Given the description of an element on the screen output the (x, y) to click on. 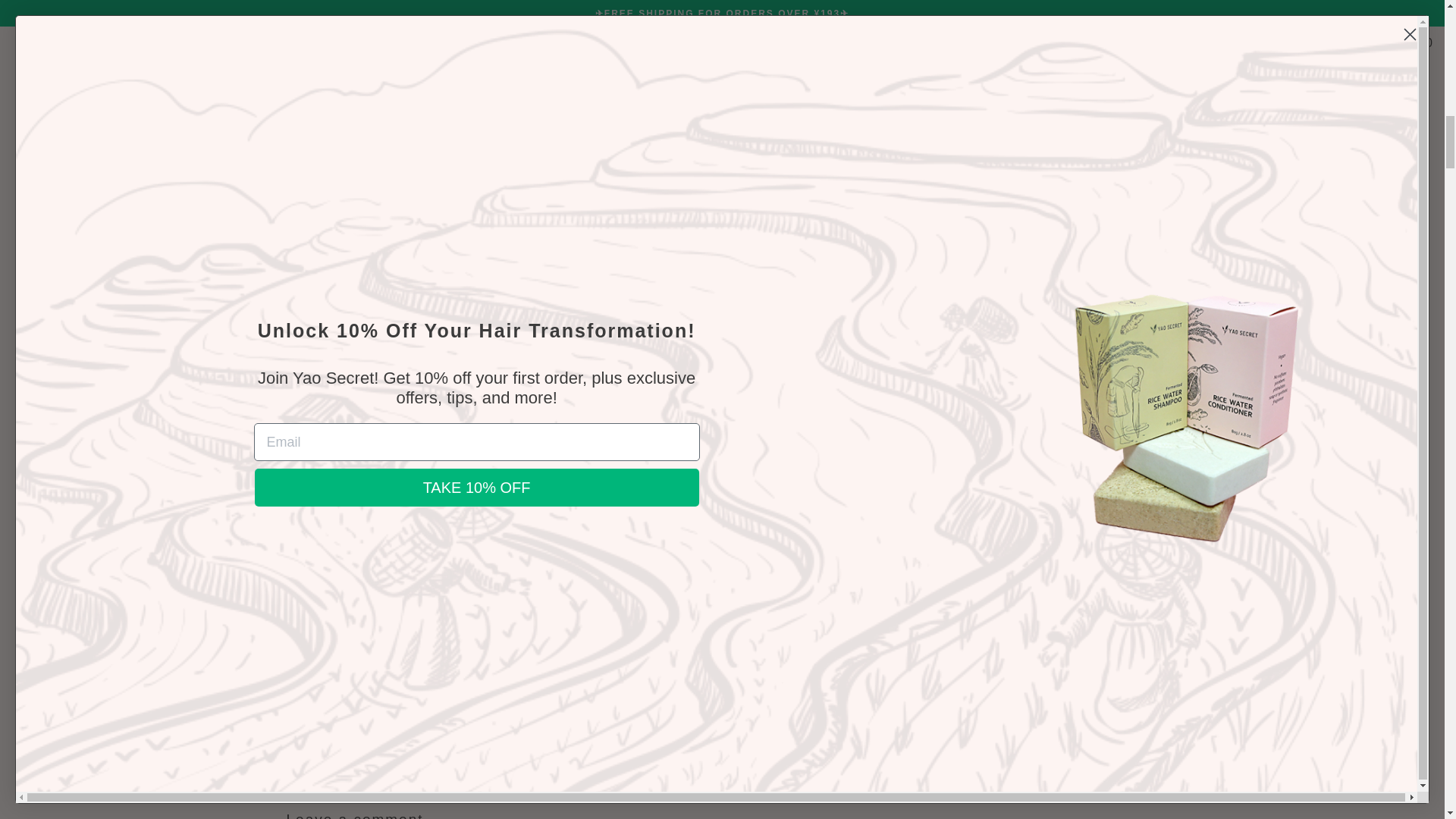
Share this on Facebook (833, 719)
Share this on Pinterest (874, 719)
Share this on Twitter (792, 719)
Email this to a friend (914, 719)
